Given the description of an element on the screen output the (x, y) to click on. 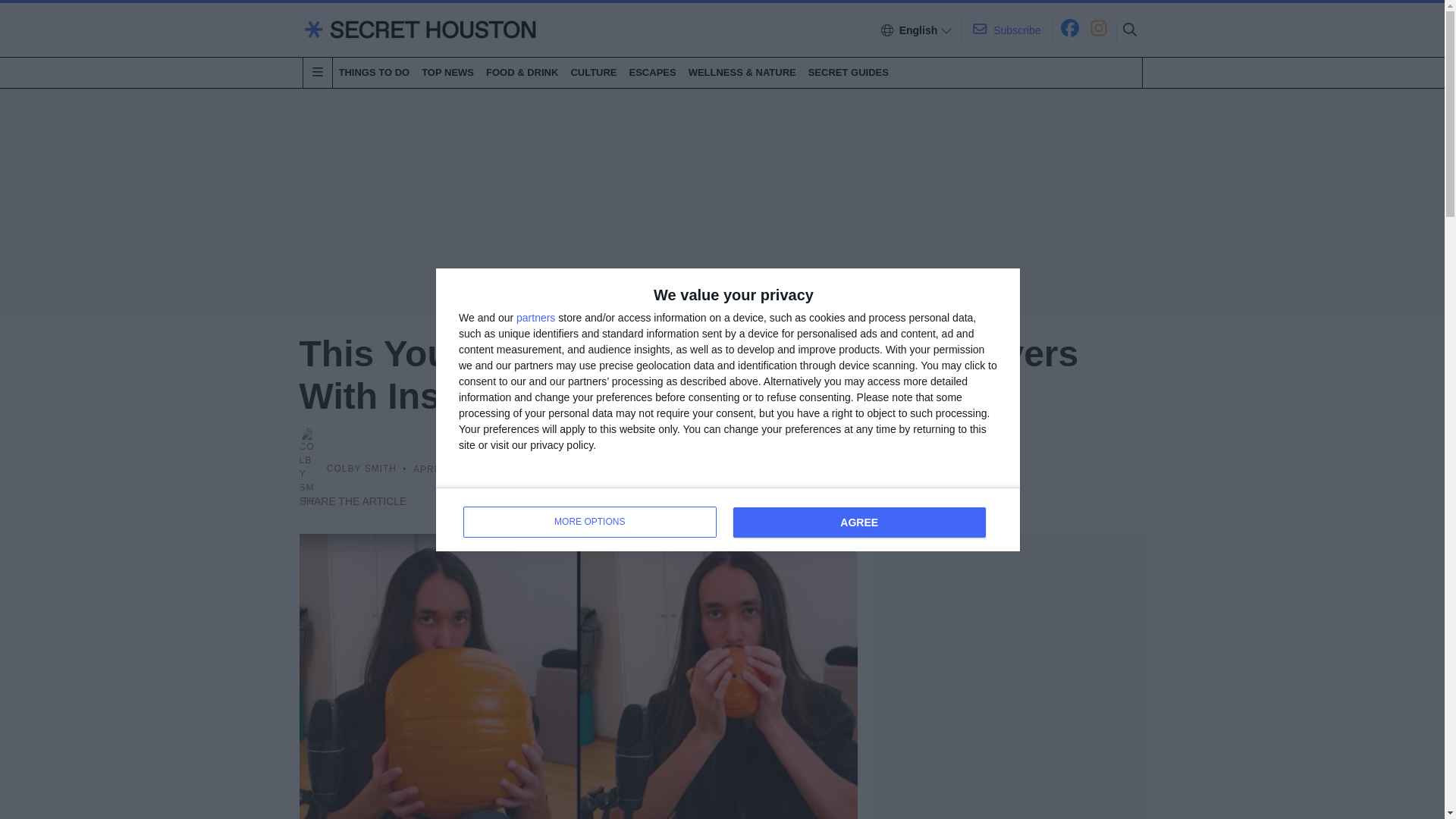
AGREE (858, 521)
TOP NEWS (448, 72)
COLBY SMITH (361, 469)
partners (535, 317)
ESCAPES (652, 72)
CULTURE (592, 72)
SECRET GUIDES (848, 72)
MORE OPTIONS (727, 518)
THINGS TO DO (589, 521)
English (373, 72)
